Given the description of an element on the screen output the (x, y) to click on. 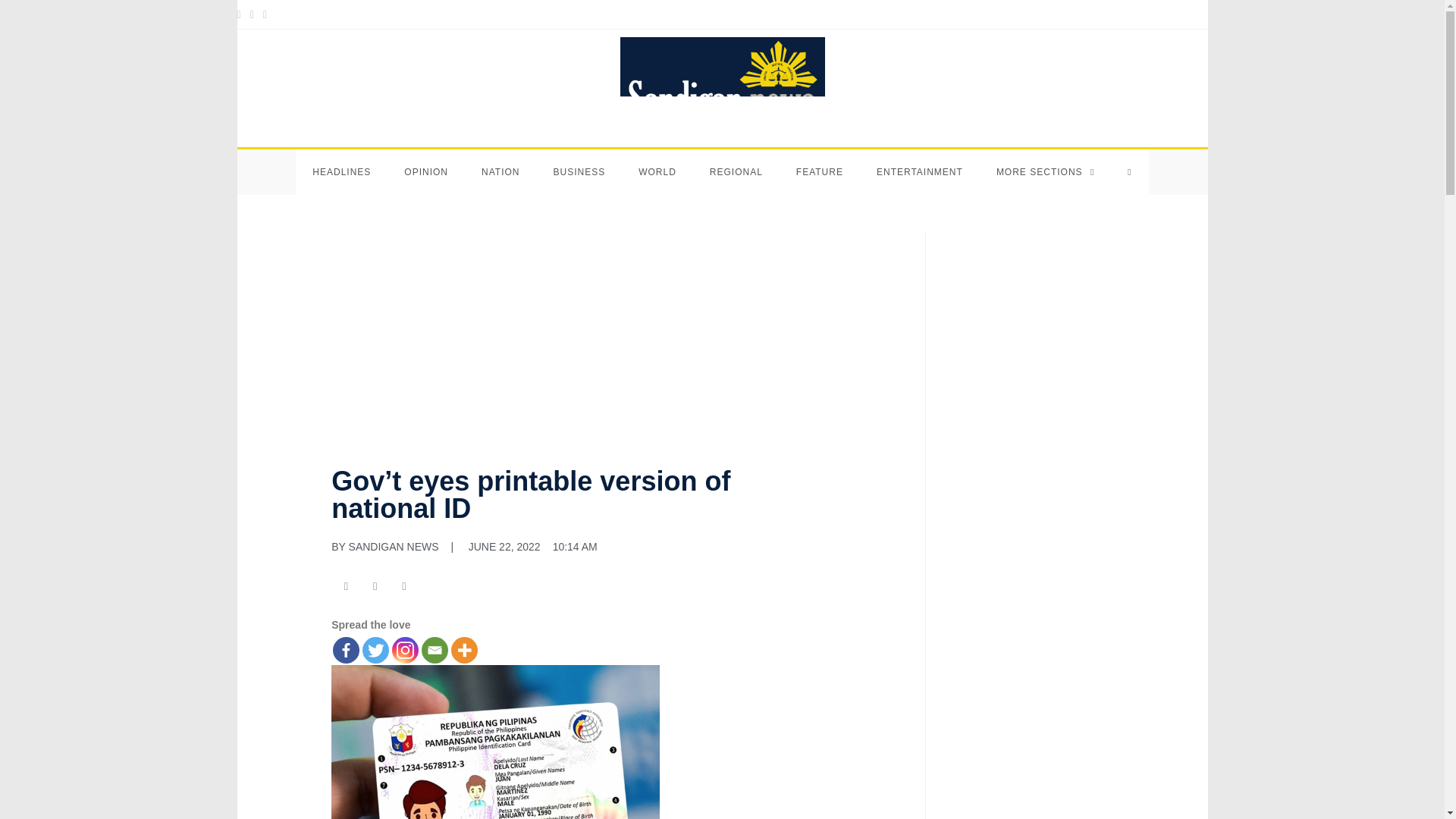
More (464, 650)
WORLD (657, 171)
Facebook (346, 650)
Twitter (375, 650)
BUSINESS (578, 171)
HEADLINES (341, 171)
NATION (499, 171)
REGIONAL (735, 171)
Instagram (405, 650)
Email (435, 650)
